Given the description of an element on the screen output the (x, y) to click on. 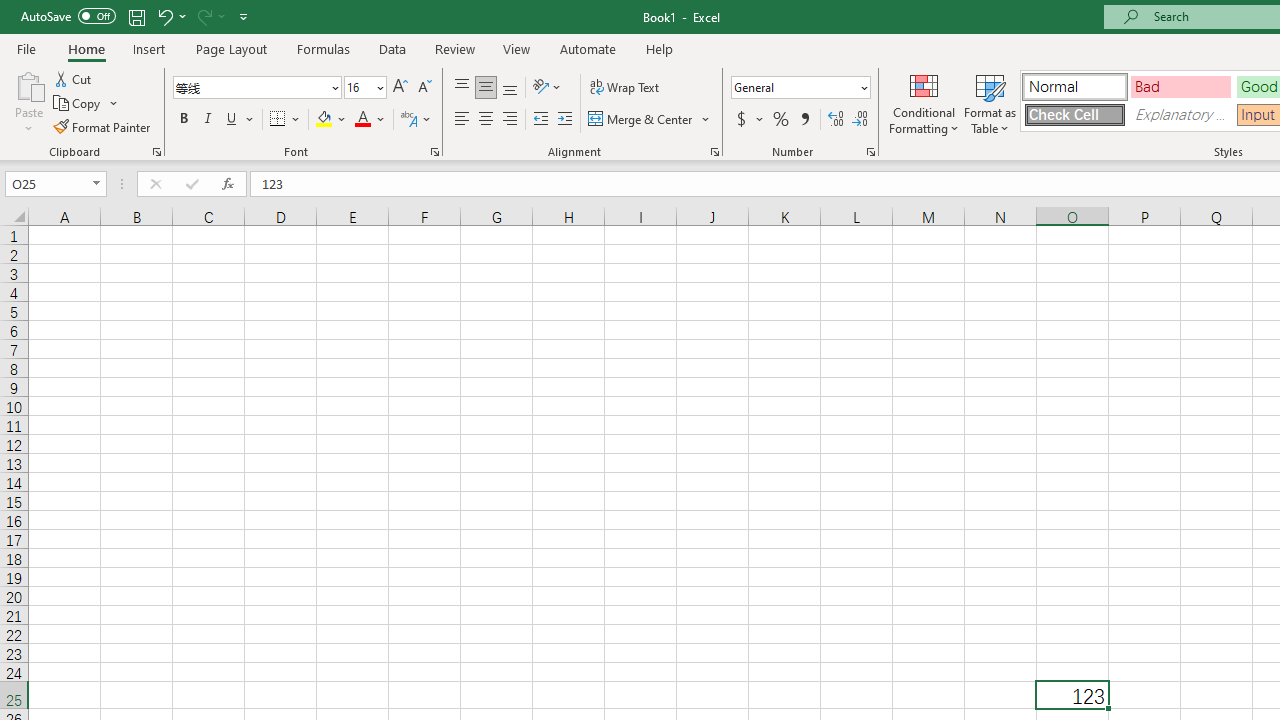
Center (485, 119)
Increase Font Size (399, 87)
Decrease Decimal (859, 119)
Underline (232, 119)
Bottom Border (278, 119)
Font Color RGB(255, 0, 0) (362, 119)
Merge & Center (641, 119)
Percent Style (781, 119)
Accounting Number Format (749, 119)
Show Phonetic Field (416, 119)
Copy (78, 103)
